Given the description of an element on the screen output the (x, y) to click on. 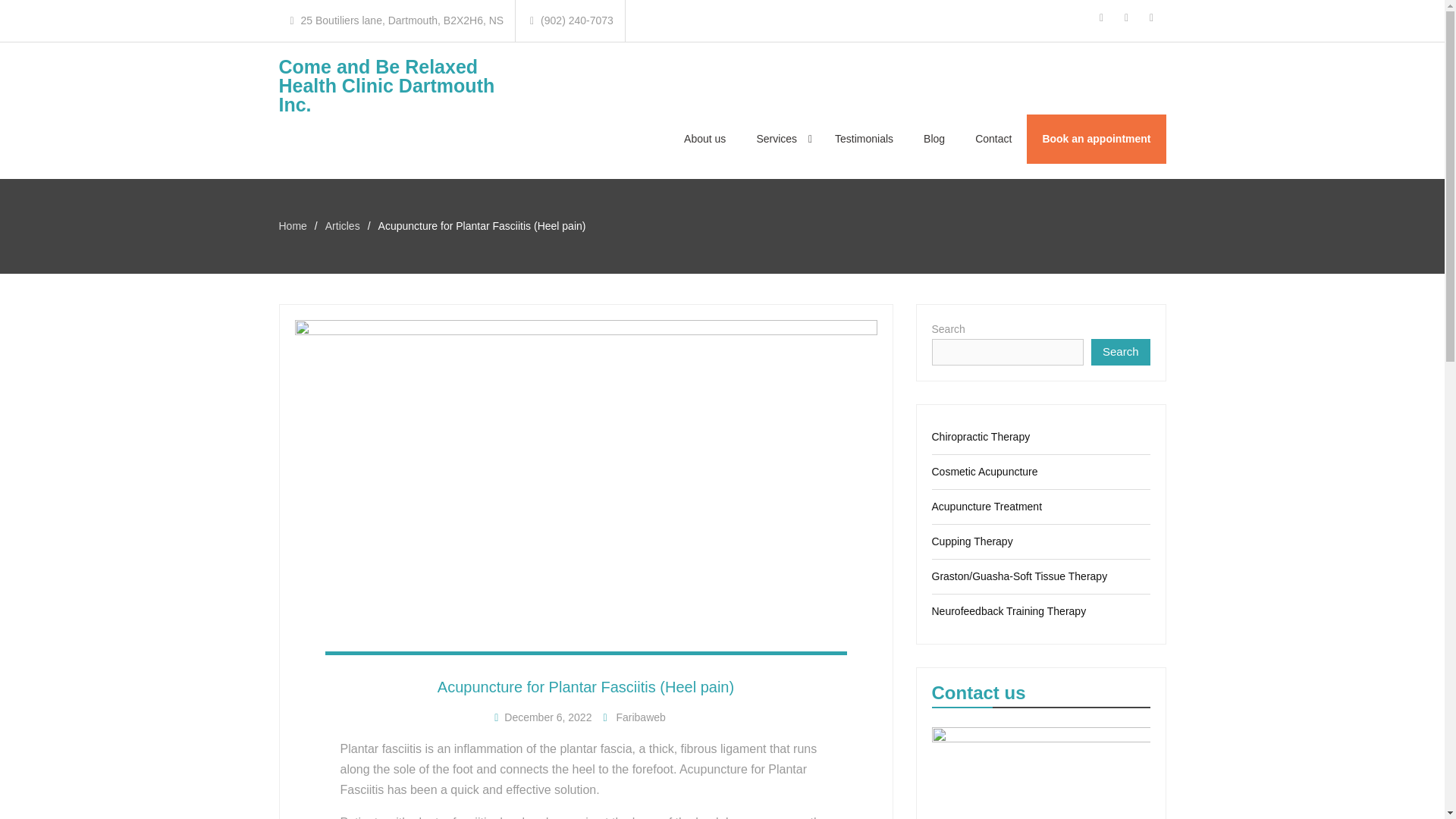
Home (293, 225)
twitter.com (1150, 17)
Cupping Therapy (971, 541)
Articles (341, 225)
Acupuncture Treatment (986, 506)
Contact (992, 138)
About us (704, 138)
Neurofeedback Training Therapy (1008, 611)
instagram (1126, 17)
Faribaweb (640, 717)
